Given the description of an element on the screen output the (x, y) to click on. 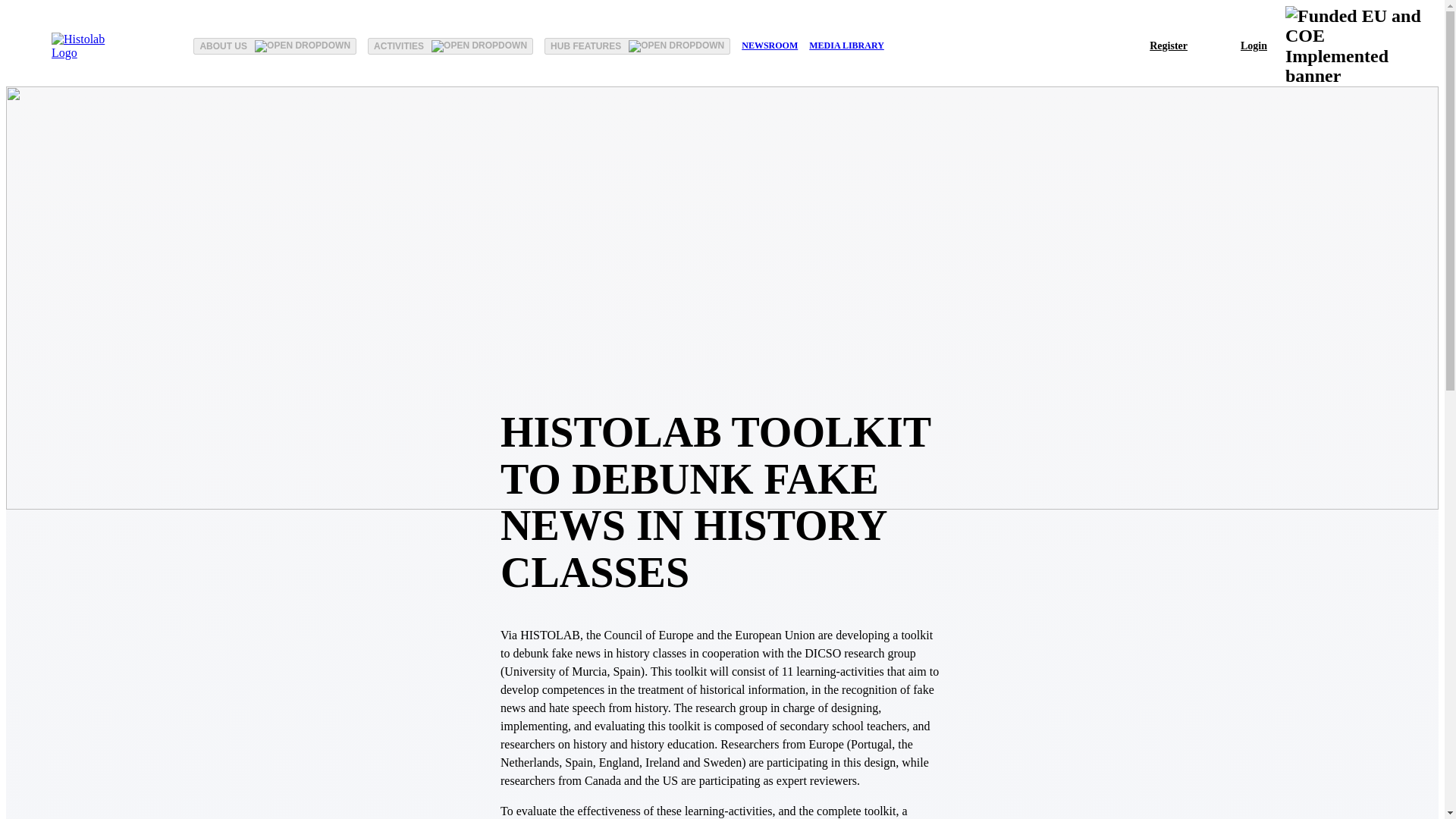
Login (1251, 46)
Register (1165, 46)
ACTIVITIES (450, 45)
NEWSROOM (769, 45)
HUB FEATURES (637, 45)
ABOUT US (274, 45)
MEDIA LIBRARY (846, 45)
